Given the description of an element on the screen output the (x, y) to click on. 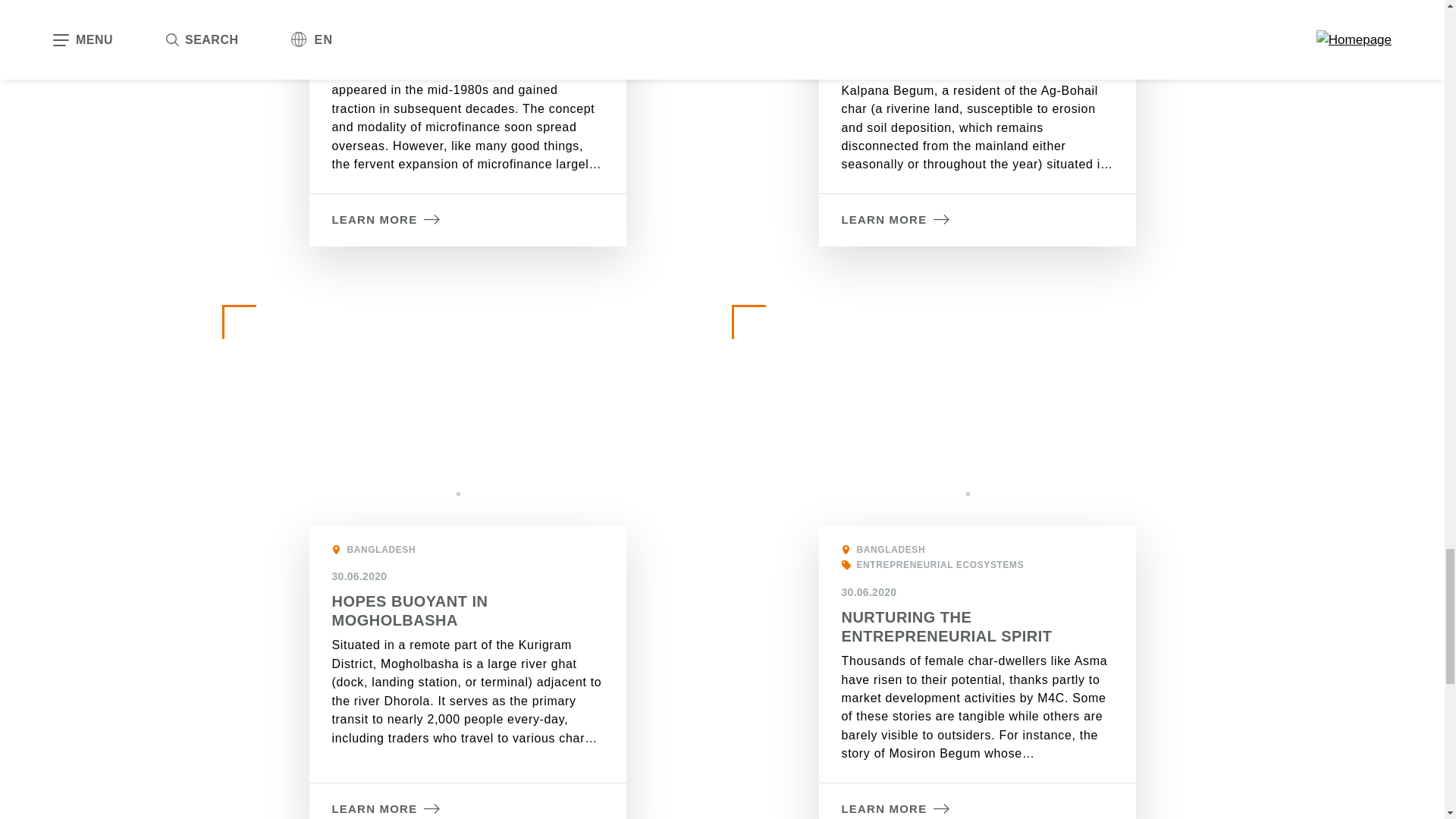
Learn more (386, 219)
Learn more (895, 219)
Learn more (386, 809)
Learn more (895, 809)
